Given the description of an element on the screen output the (x, y) to click on. 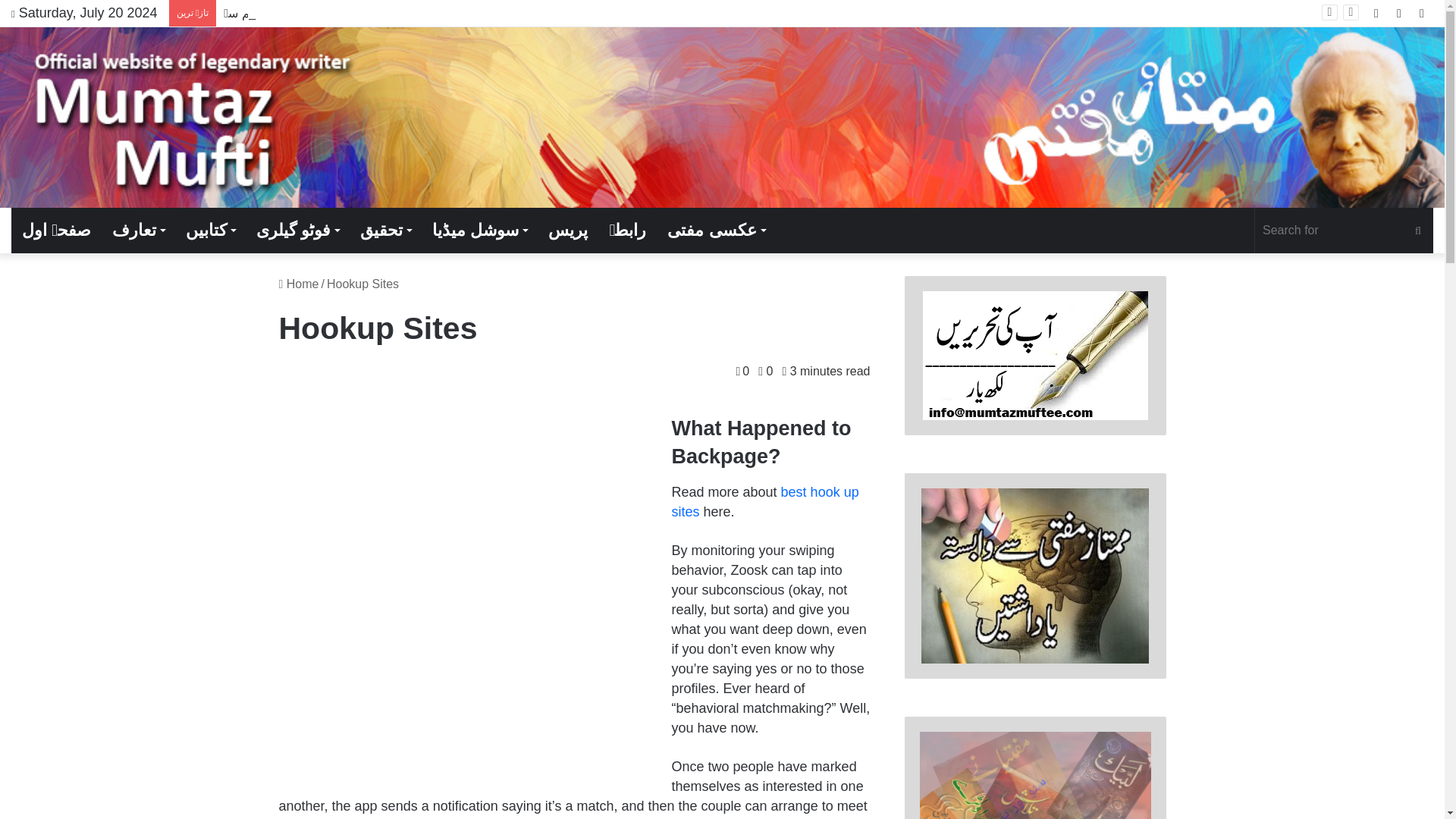
Search for (1343, 230)
